Given the description of an element on the screen output the (x, y) to click on. 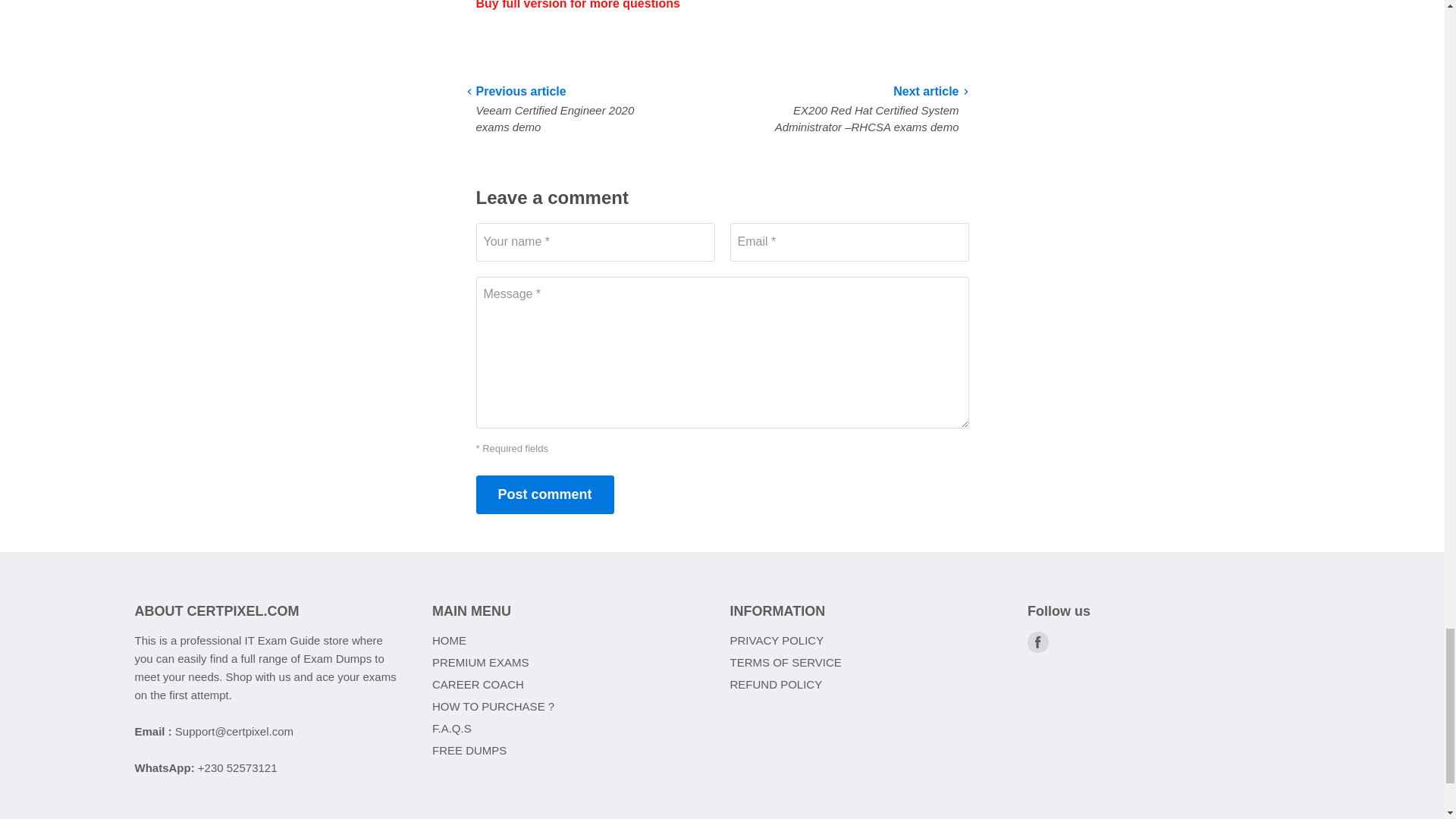
CAREER COACH (478, 684)
FREE DUMPS (469, 749)
HOW TO PURCHASE ? (493, 706)
PRIVACY POLICY (776, 640)
TERMS OF SERVICE (785, 662)
F.A.Q.S (451, 727)
Facebook (1037, 641)
Post comment (545, 494)
PREMIUM EXAMS (480, 662)
HOME (448, 640)
